Given the description of an element on the screen output the (x, y) to click on. 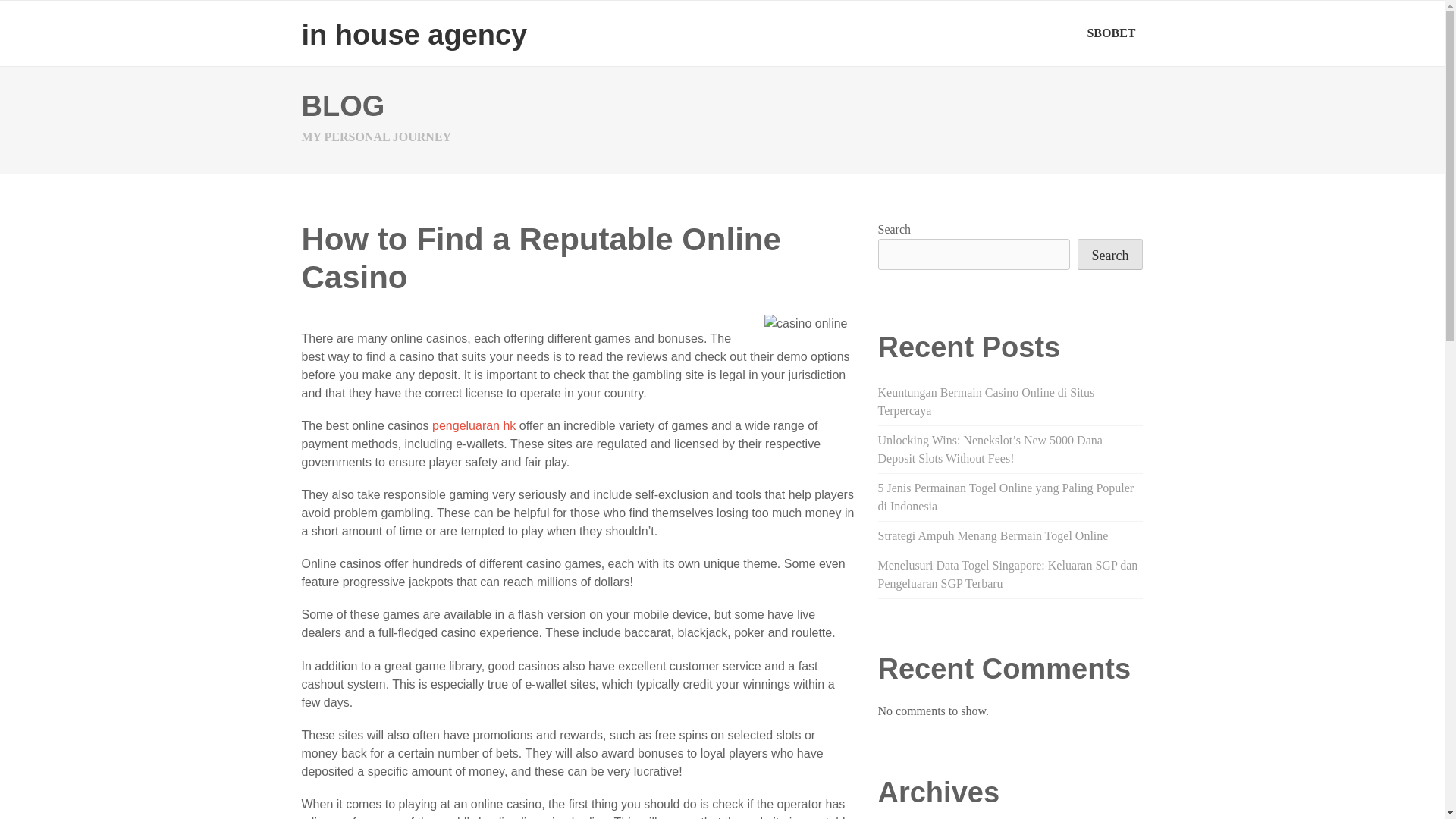
Search (1109, 254)
in house agency (414, 34)
pengeluaran hk (473, 425)
SBOBET (1110, 33)
Strategi Ampuh Menang Bermain Togel Online (992, 535)
Keuntungan Bermain Casino Online di Situs Terpercaya (985, 400)
